Given the description of an element on the screen output the (x, y) to click on. 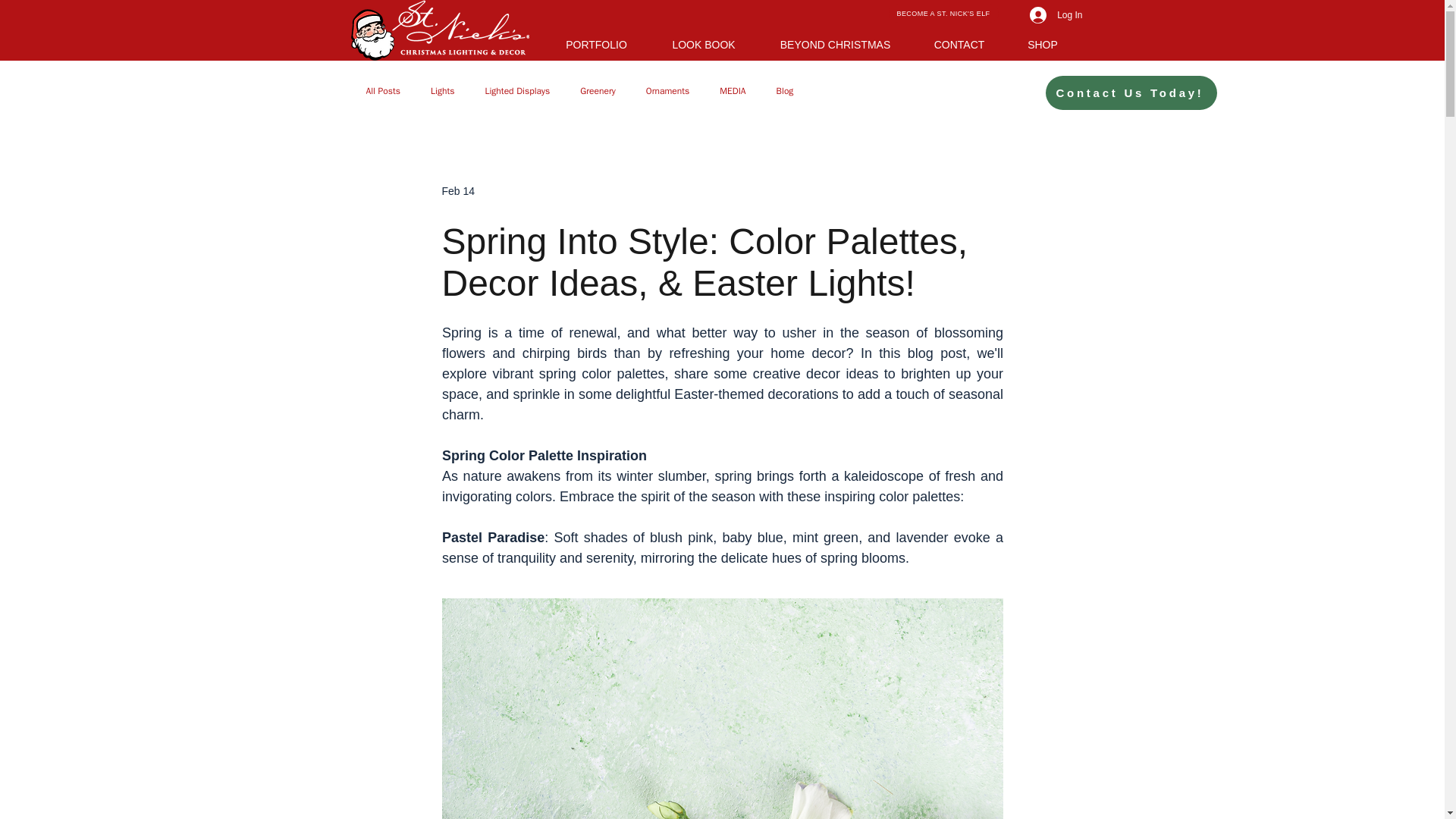
Ornaments (668, 91)
Greenery (597, 91)
CONTACT (958, 43)
PORTFOLIO (596, 43)
SHOP (1042, 43)
MEDIA (732, 91)
Go Home (439, 30)
LOOK BOOK (703, 43)
Lights (442, 91)
All Posts (382, 91)
Blog (784, 91)
Feb 14 (457, 191)
BECOME A ST. NICK'S ELF (943, 13)
Log In (1056, 14)
Lighted Displays (517, 91)
